Given the description of an element on the screen output the (x, y) to click on. 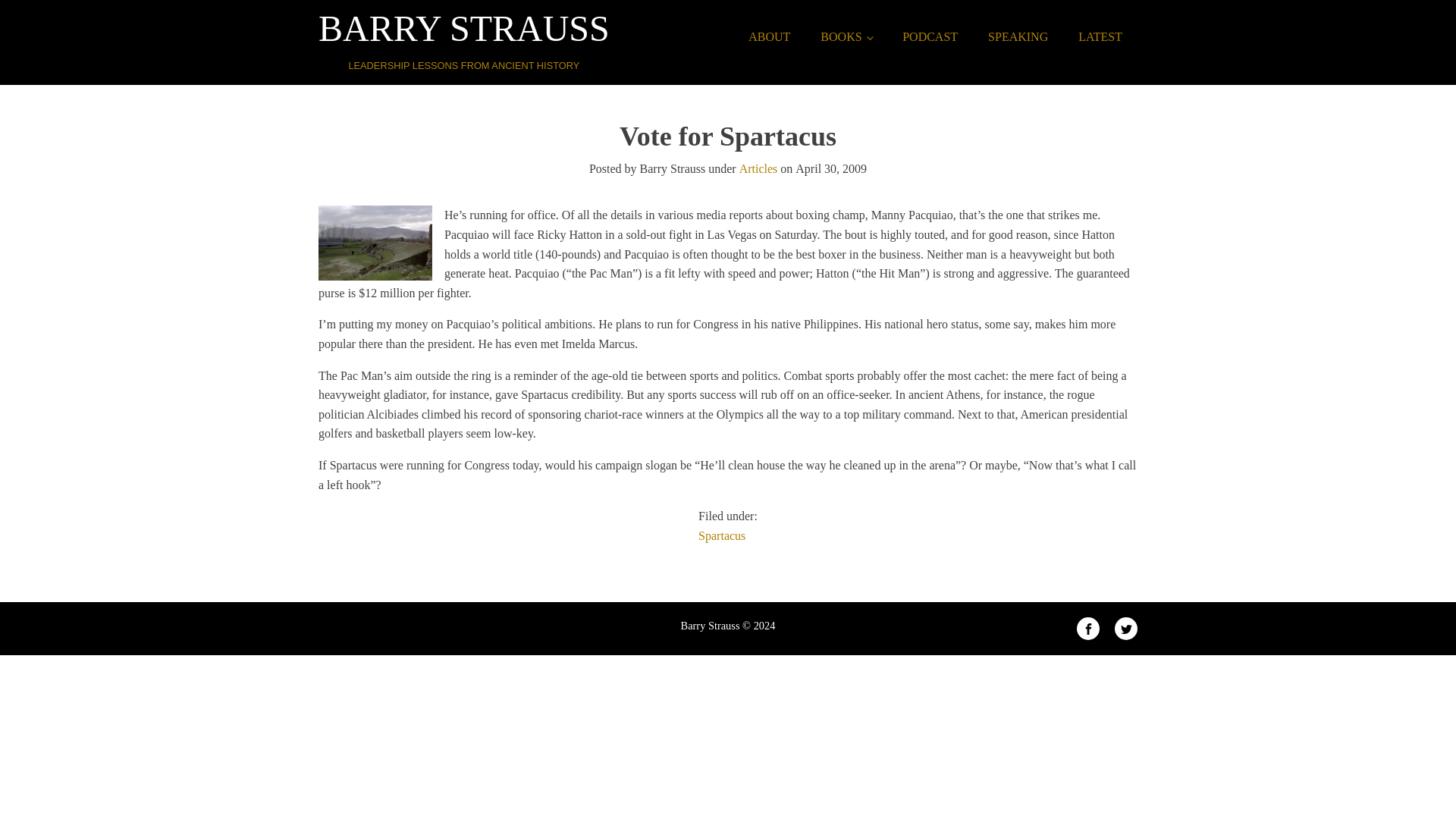
LATEST (1099, 37)
Spartacus (721, 535)
BOOKS (845, 37)
Articles (464, 36)
ABOUT (758, 168)
SPEAKING (769, 37)
PODCAST (1017, 37)
Vote for Spartacus (929, 37)
